Given the description of an element on the screen output the (x, y) to click on. 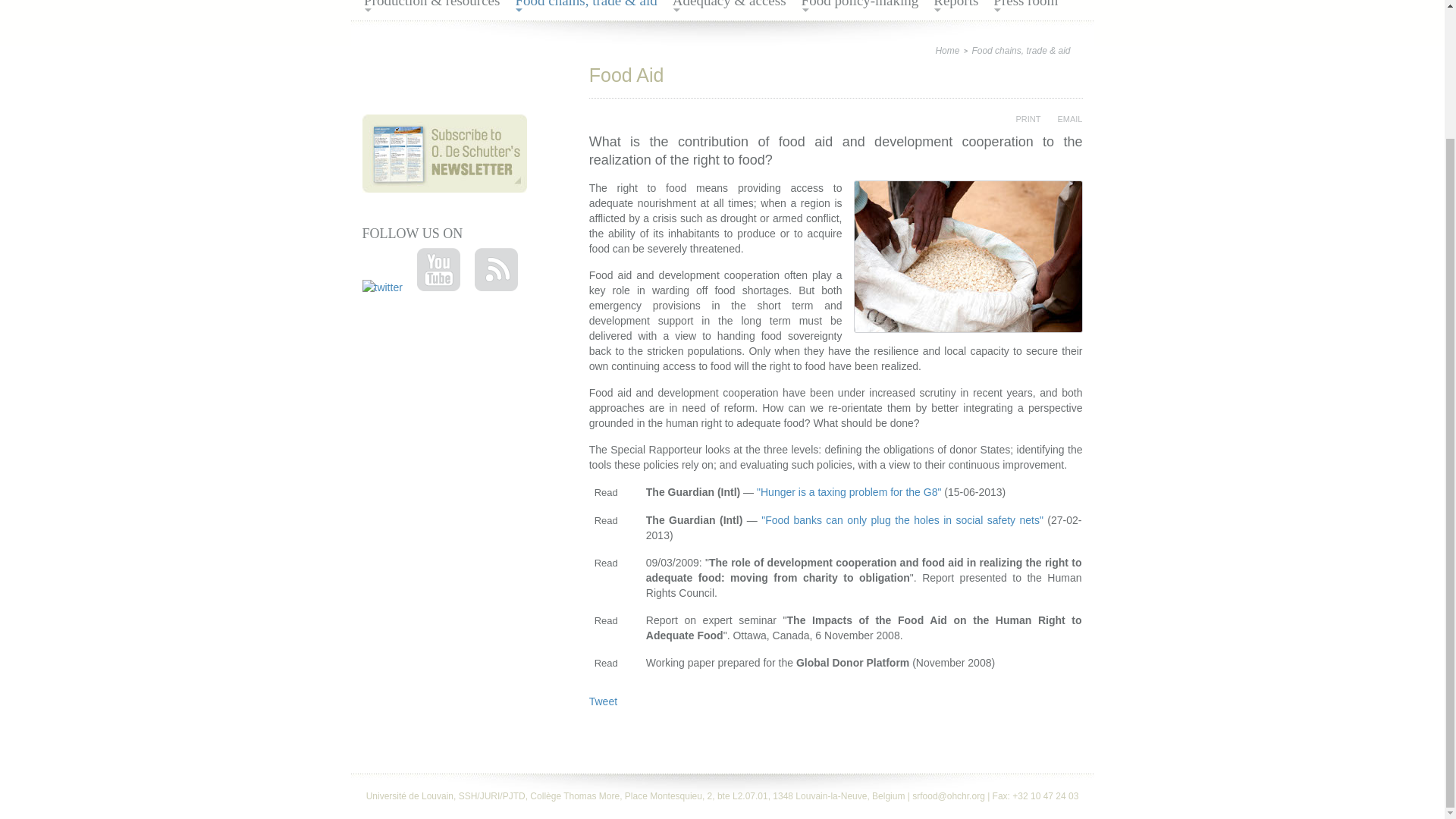
Reports (955, 6)
Email this link to a friend (1062, 118)
Press room (1025, 6)
Food policy-making (859, 6)
